Given the description of an element on the screen output the (x, y) to click on. 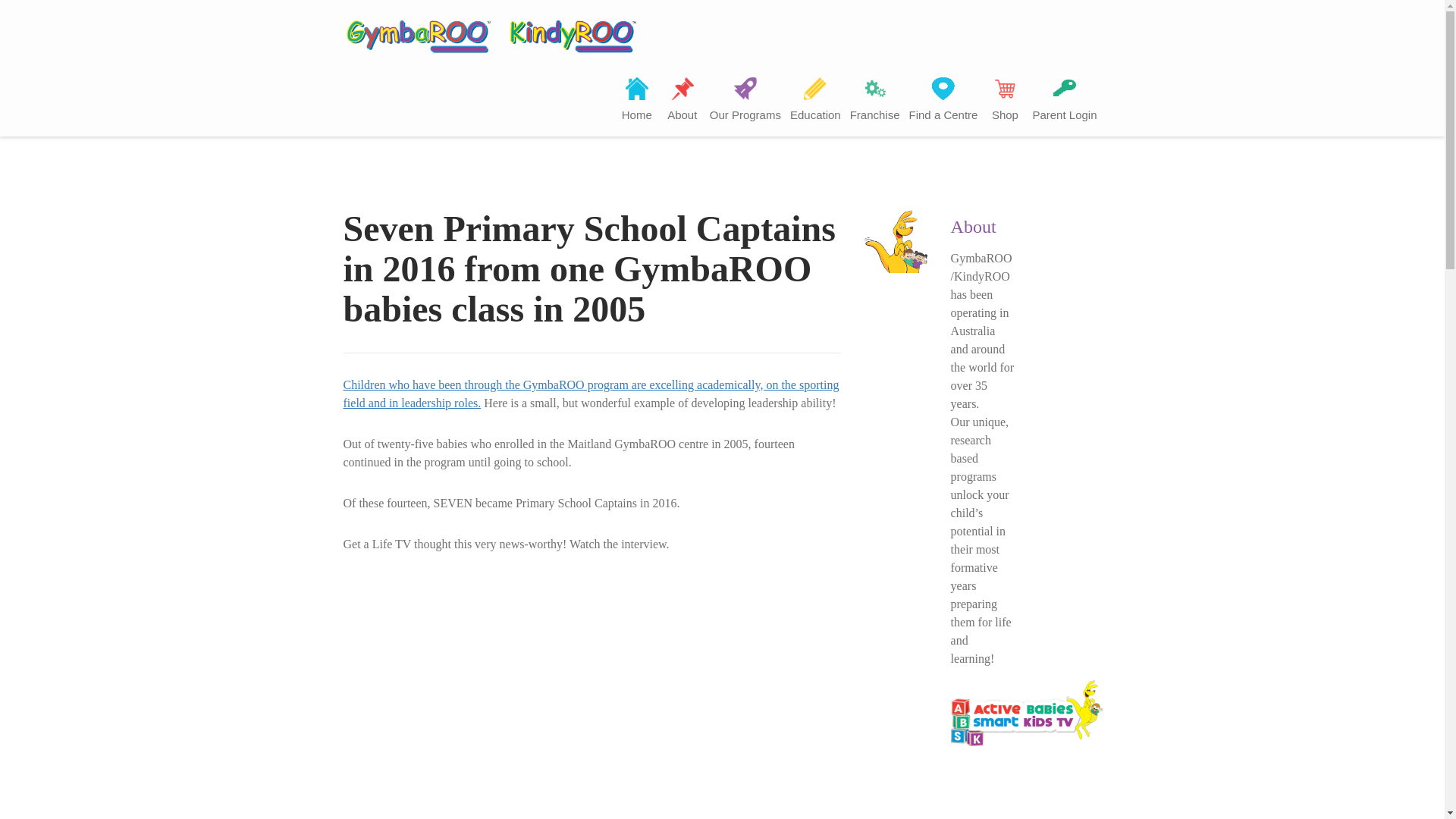
Parent Login (1063, 101)
Our Programs (745, 101)
Find a Centre (943, 101)
